Given the description of an element on the screen output the (x, y) to click on. 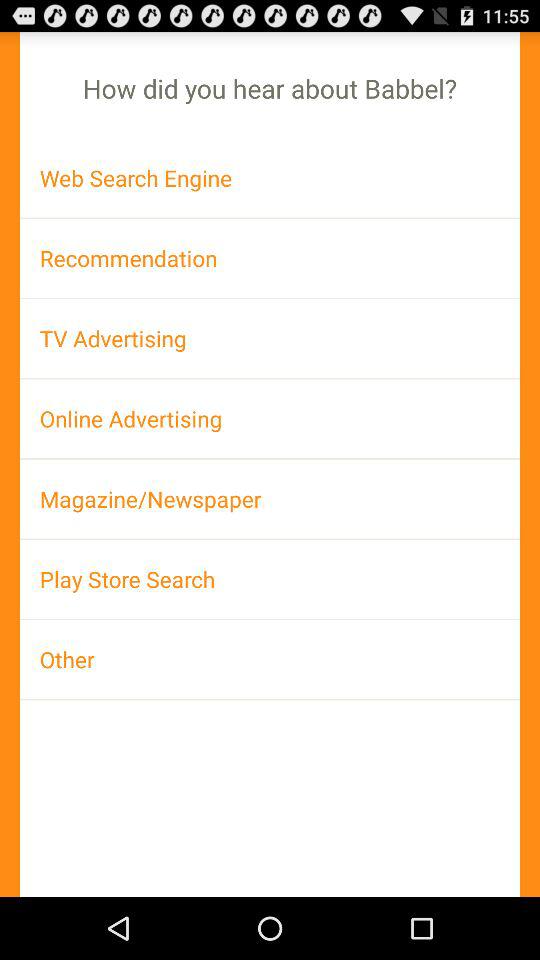
turn on the item above magazine/newspaper item (269, 418)
